Given the description of an element on the screen output the (x, y) to click on. 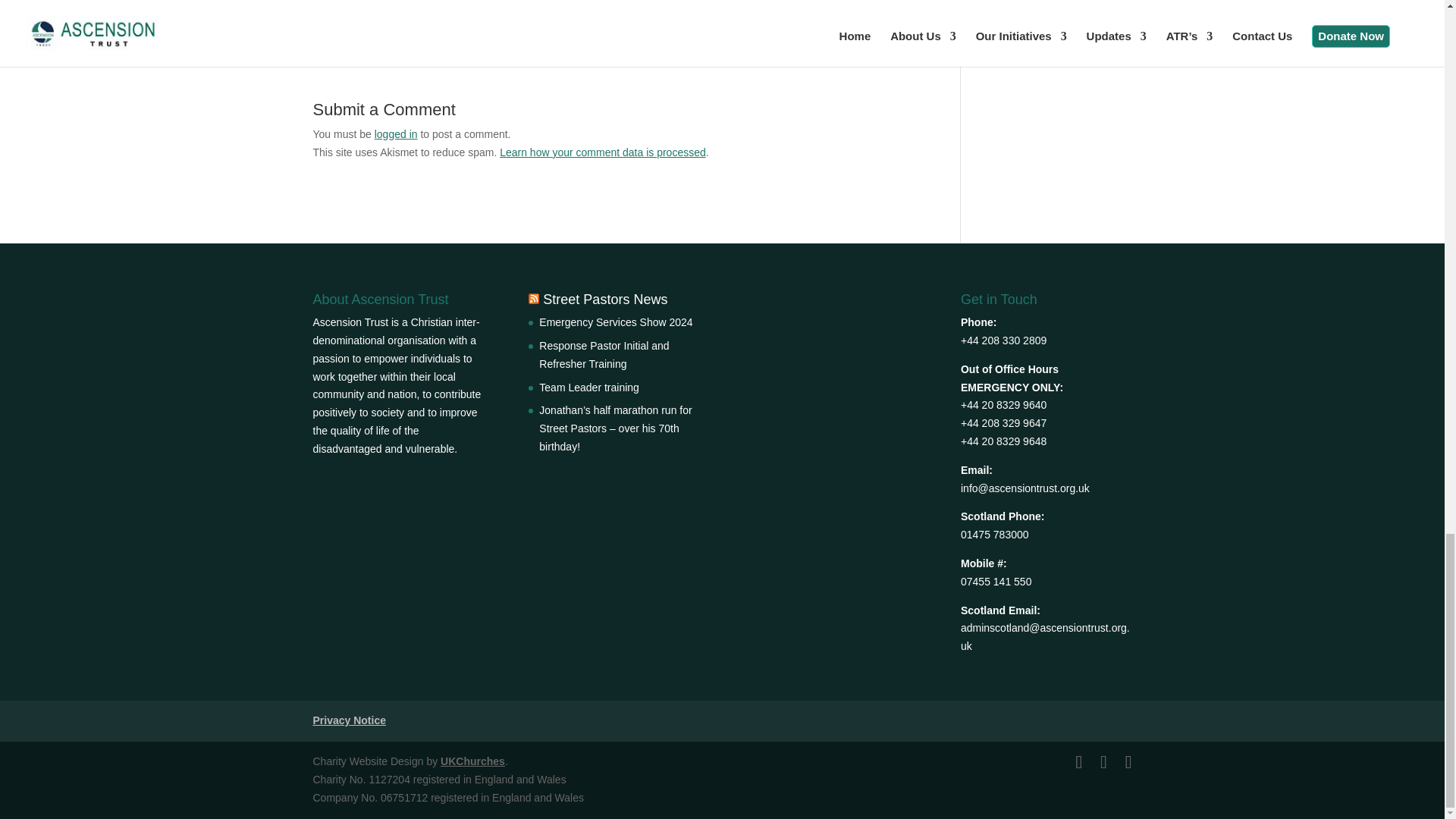
Click to share on Twitter (377, 5)
Click to share on Facebook (346, 5)
